Given the description of an element on the screen output the (x, y) to click on. 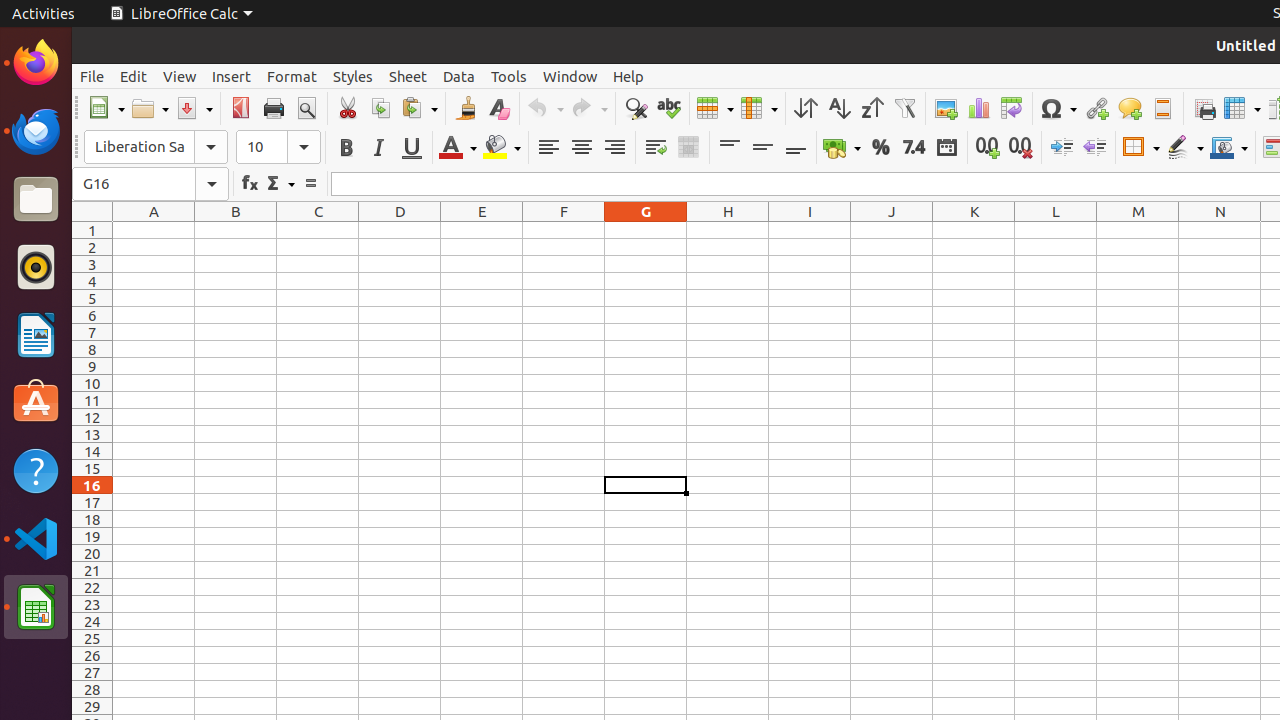
Edit Element type: menu (133, 76)
Spelling Element type: push-button (668, 108)
Symbol Element type: push-button (1058, 108)
Select Function Element type: push-button (280, 183)
Increase Element type: push-button (1061, 147)
